Given the description of an element on the screen output the (x, y) to click on. 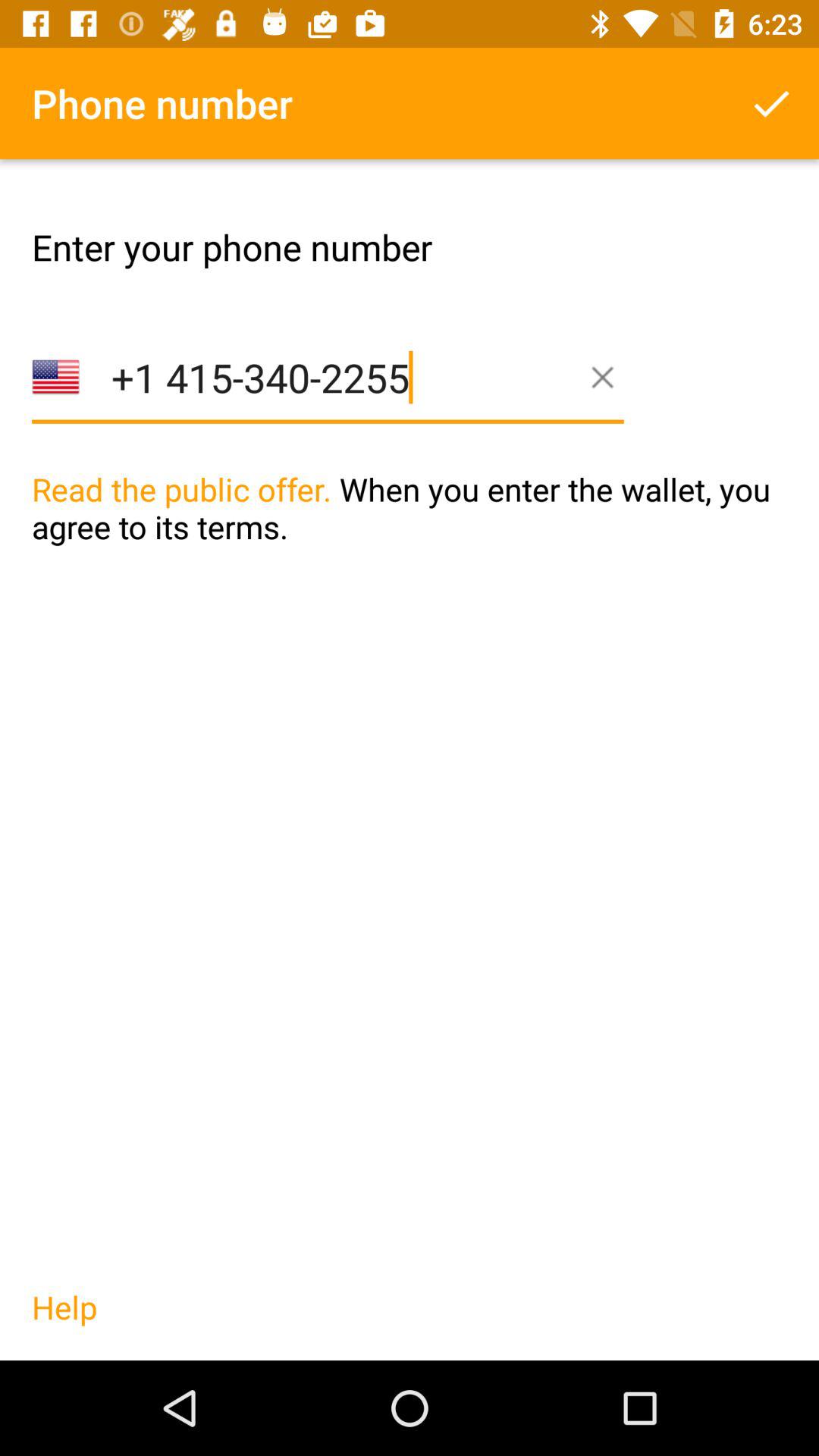
jump to help (64, 1322)
